Given the description of an element on the screen output the (x, y) to click on. 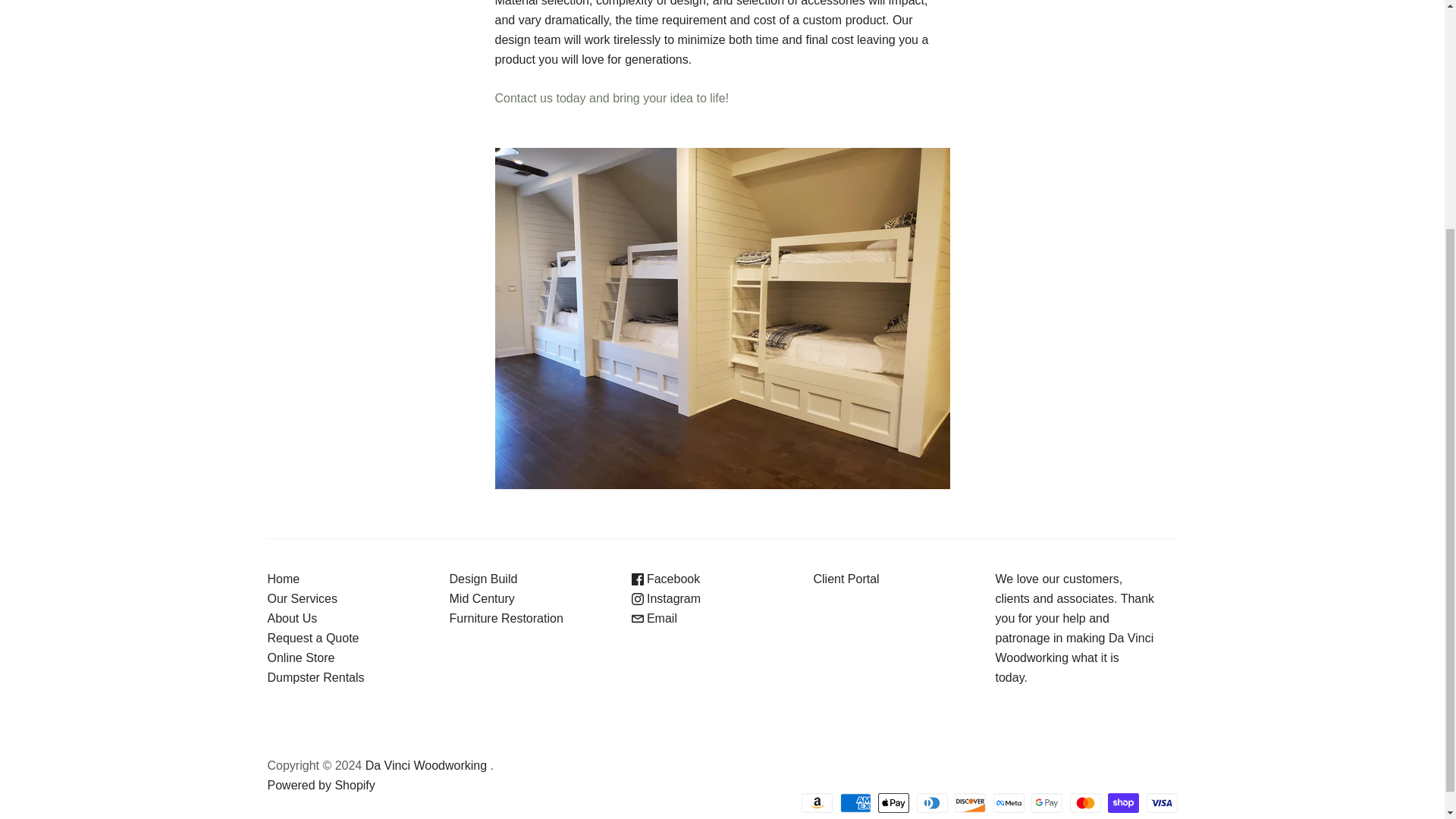
Discover (970, 803)
Design Build - RAQ (612, 97)
American Express (855, 803)
Shop Pay (1123, 803)
Amazon (817, 803)
Visa (1162, 803)
Instagram (665, 598)
Contact us today and bring your idea to life! (612, 97)
Facebook (665, 578)
Email (653, 617)
Client Portal (845, 578)
Online Store (300, 657)
Da Vinci Woodworking (425, 765)
Dumpster Rentals (315, 676)
Meta Pay (1008, 803)
